Given the description of an element on the screen output the (x, y) to click on. 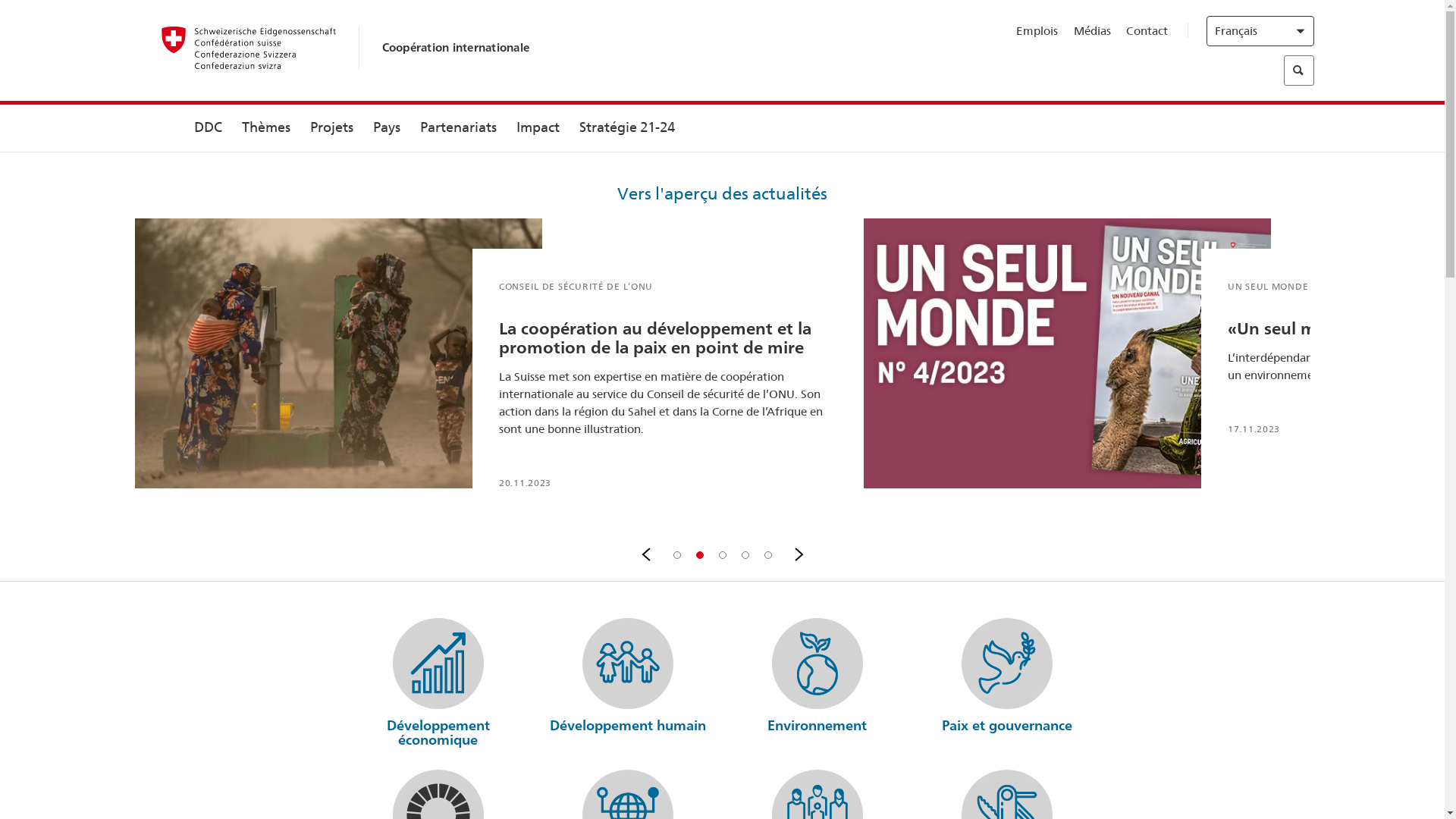
Partenariats Element type: text (457, 127)
Projets Element type: text (331, 127)
Emplois Element type: text (1036, 30)
Pays Element type: text (385, 127)
Contact Element type: text (1146, 30)
Impact Element type: text (537, 127)
DDC Element type: text (207, 127)
